Given the description of an element on the screen output the (x, y) to click on. 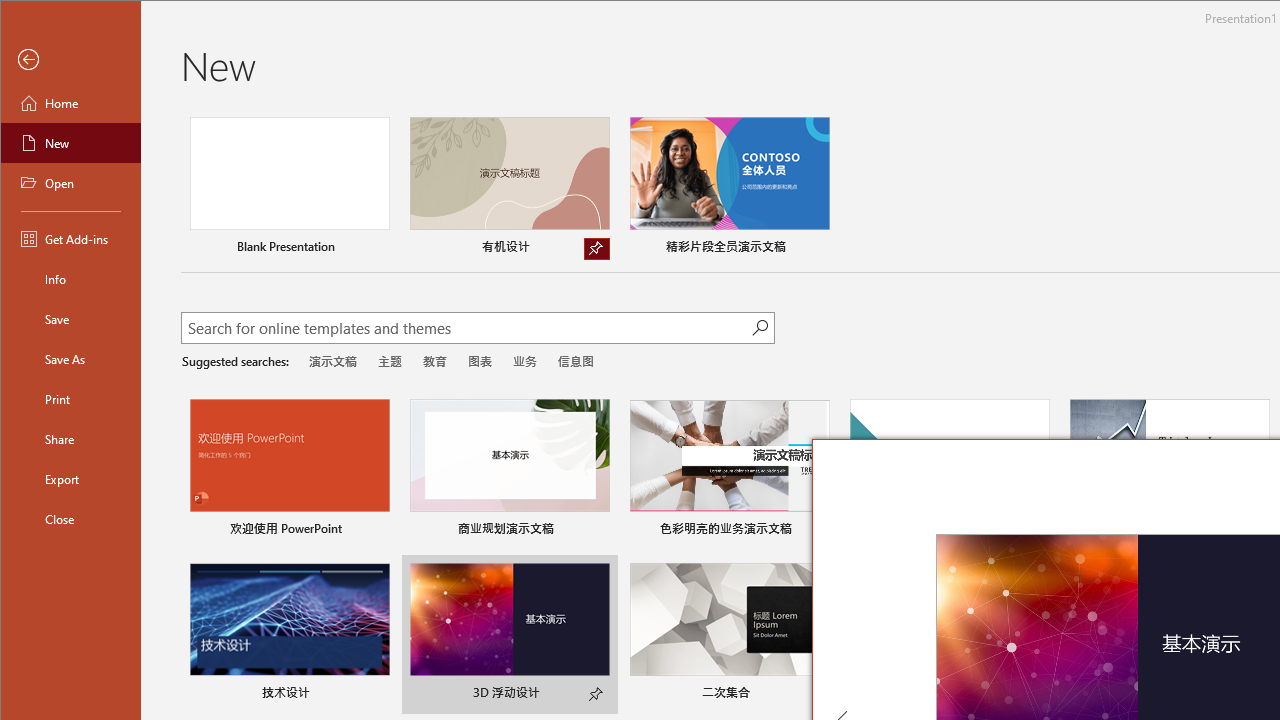
Unpin from list (596, 248)
Print (70, 398)
Pin to list (596, 695)
Start searching (760, 327)
Get Add-ins (70, 238)
Search for online templates and themes (467, 330)
New (70, 142)
Save As (70, 358)
